Given the description of an element on the screen output the (x, y) to click on. 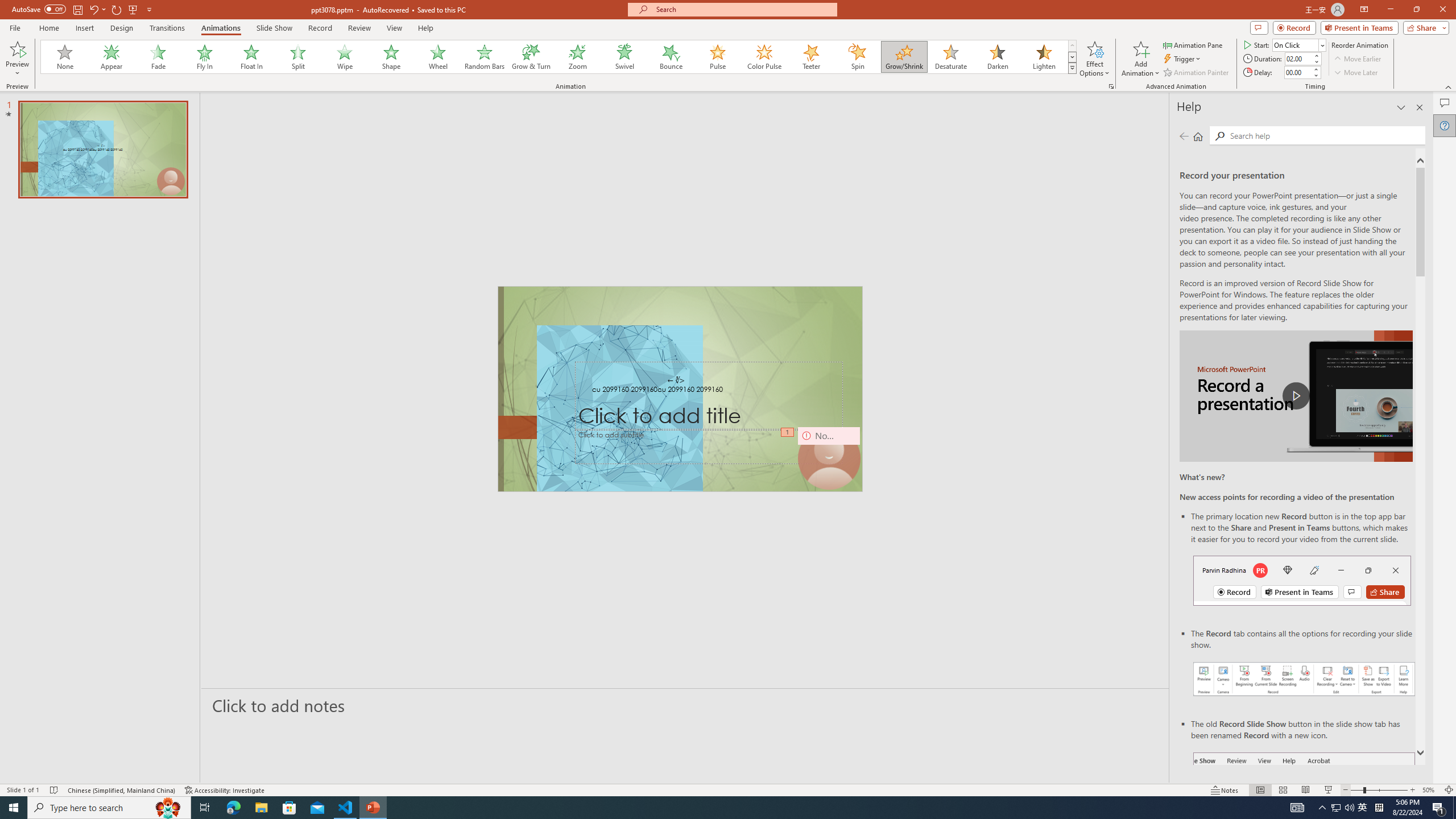
Subtitle TextBox (709, 446)
Animation, sequence 1, on Camera 9 (787, 432)
Wheel (437, 56)
TextBox 7 (676, 380)
